Given the description of an element on the screen output the (x, y) to click on. 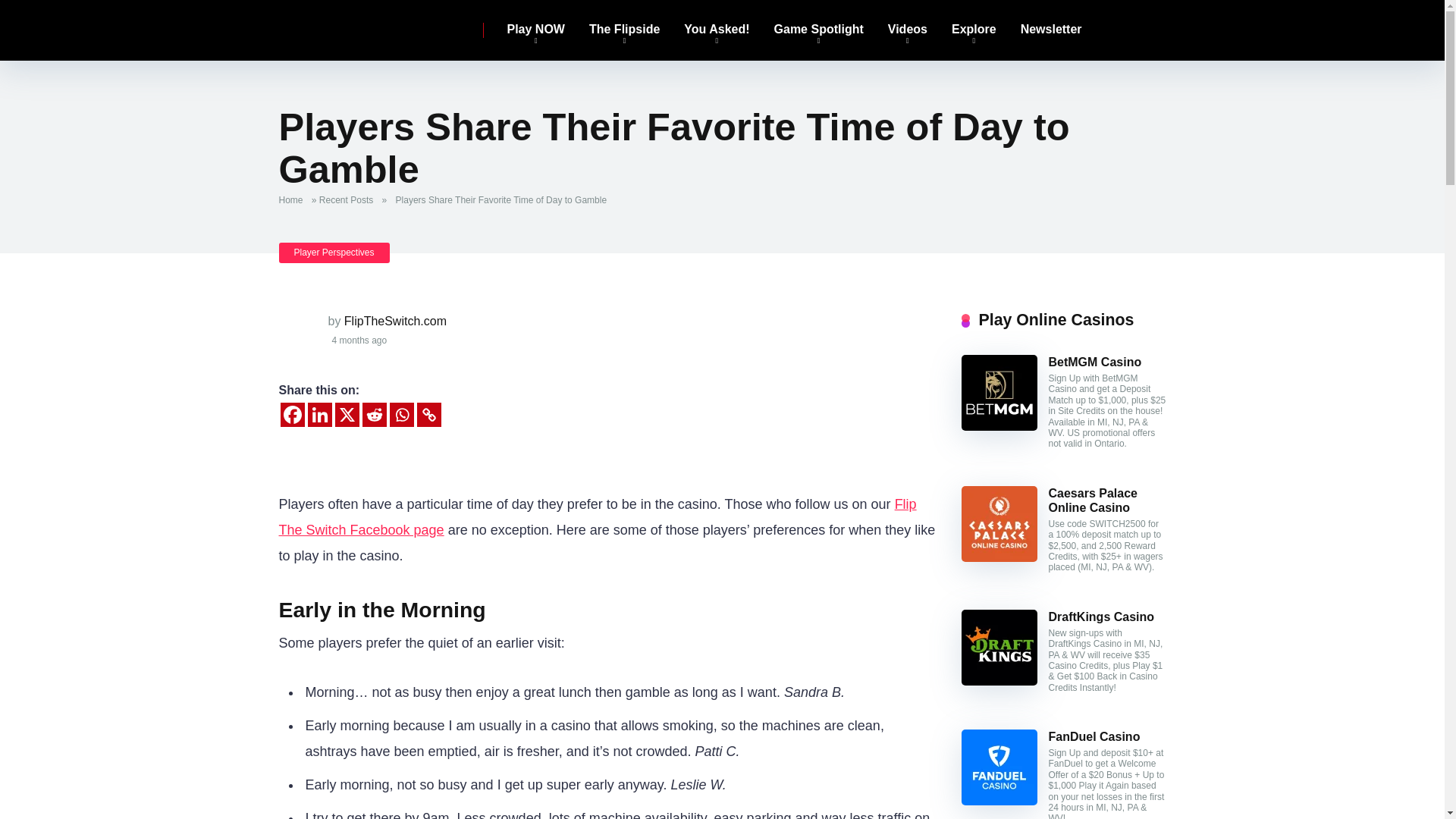
Copy Link (428, 414)
Flip The Switch (362, 24)
You Asked! (716, 30)
The Flipside (623, 30)
Play NOW (535, 30)
Game Spotlight (818, 30)
X (346, 414)
Posts by FlipTheSwitch.com (394, 320)
Facebook (292, 414)
Videos (907, 30)
Reddit (374, 414)
Whatsapp (401, 414)
Linkedin (319, 414)
